Given the description of an element on the screen output the (x, y) to click on. 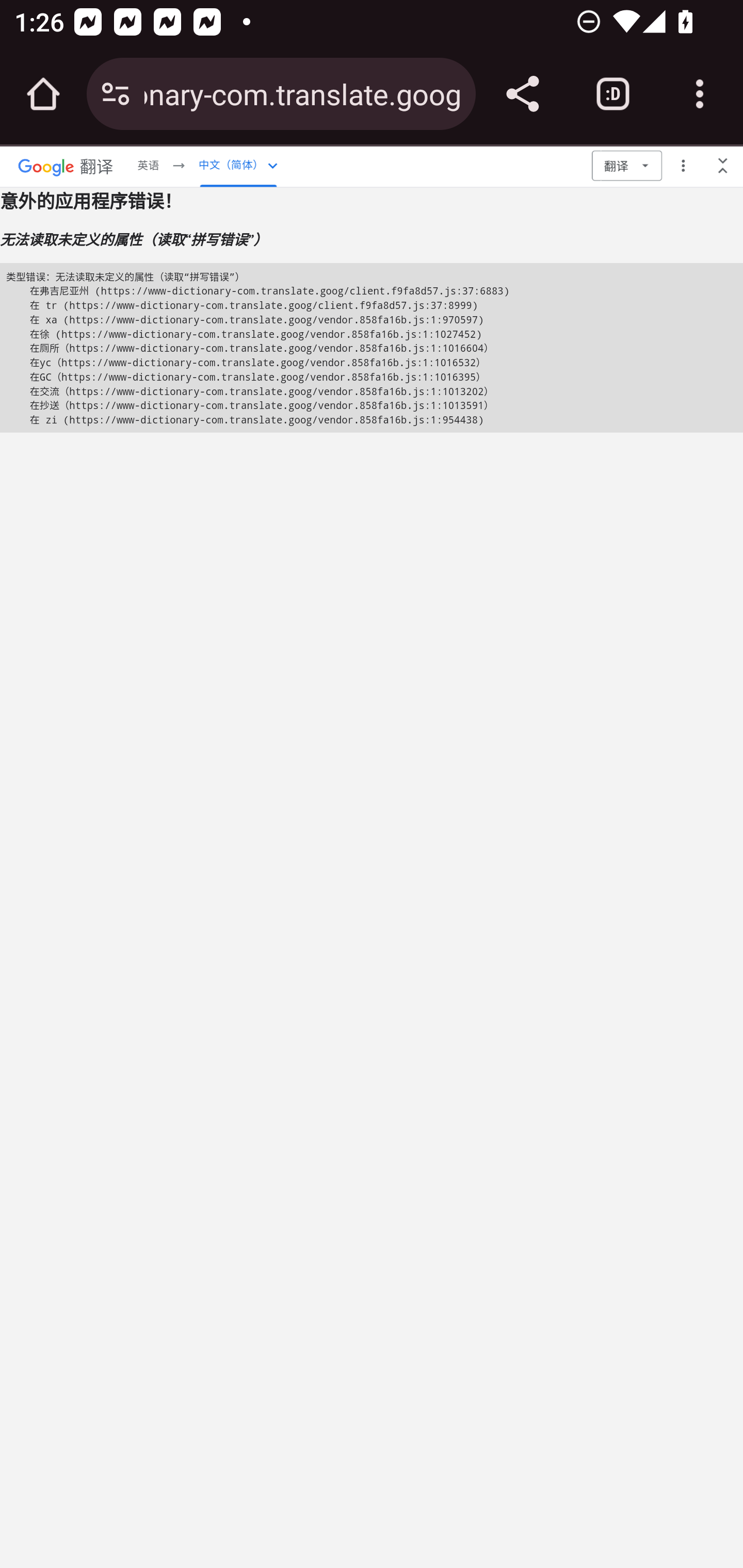
Open the home page (43, 93)
Connection is secure (115, 93)
Share (522, 93)
Switch or close tabs (612, 93)
Customize and control Google Chrome (699, 93)
Google 翻译 Google 翻译 (65, 165)
英语 (147, 165)
中文（简体）  (237, 165)
更多菜单选项 (683, 165)
收起谷歌翻译导航栏 (722, 165)
